Given the description of an element on the screen output the (x, y) to click on. 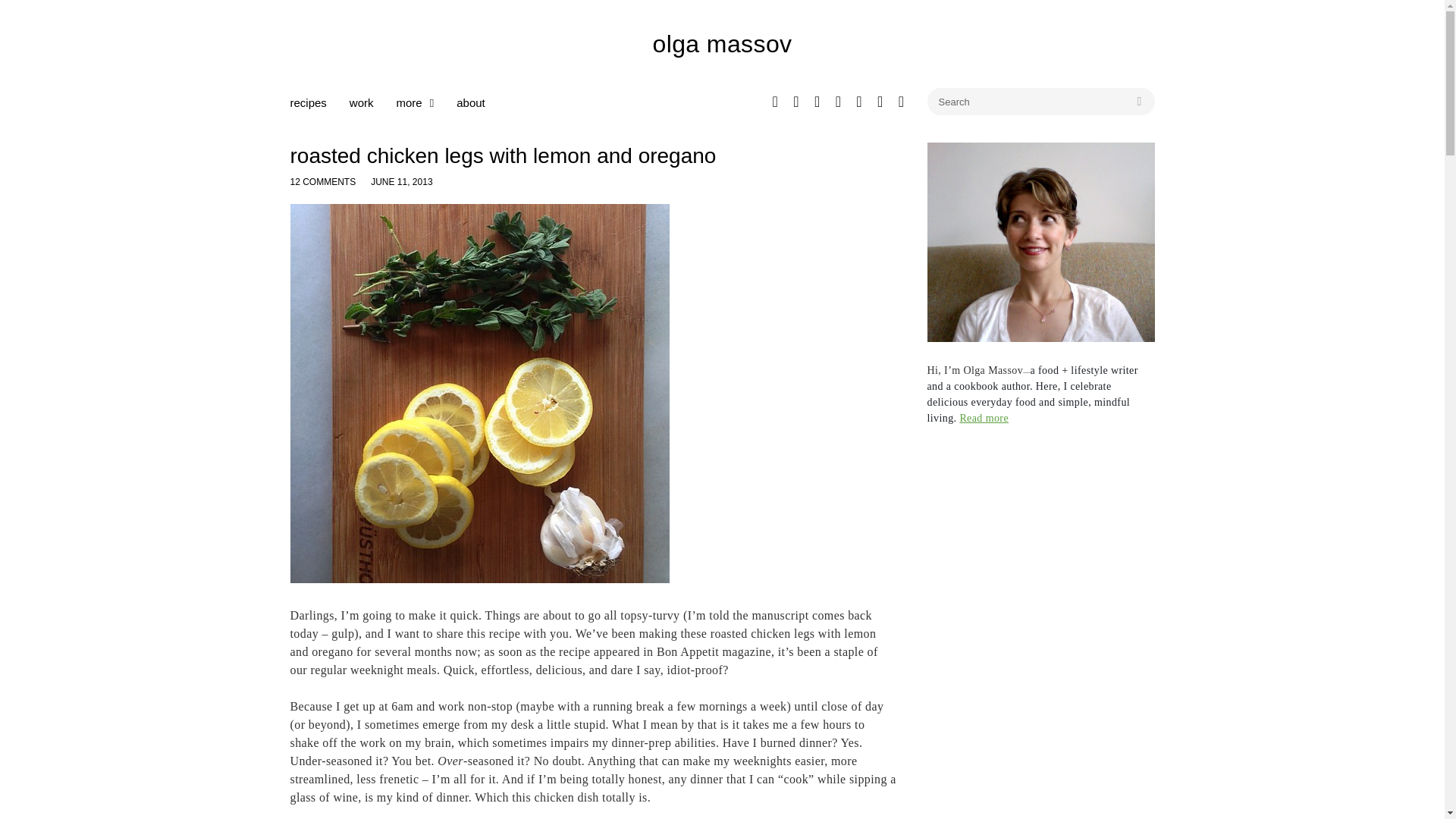
Go (1139, 101)
12 COMMENTS (322, 181)
olga massov (721, 43)
more (414, 102)
recipes (307, 102)
about (470, 102)
